Given the description of an element on the screen output the (x, y) to click on. 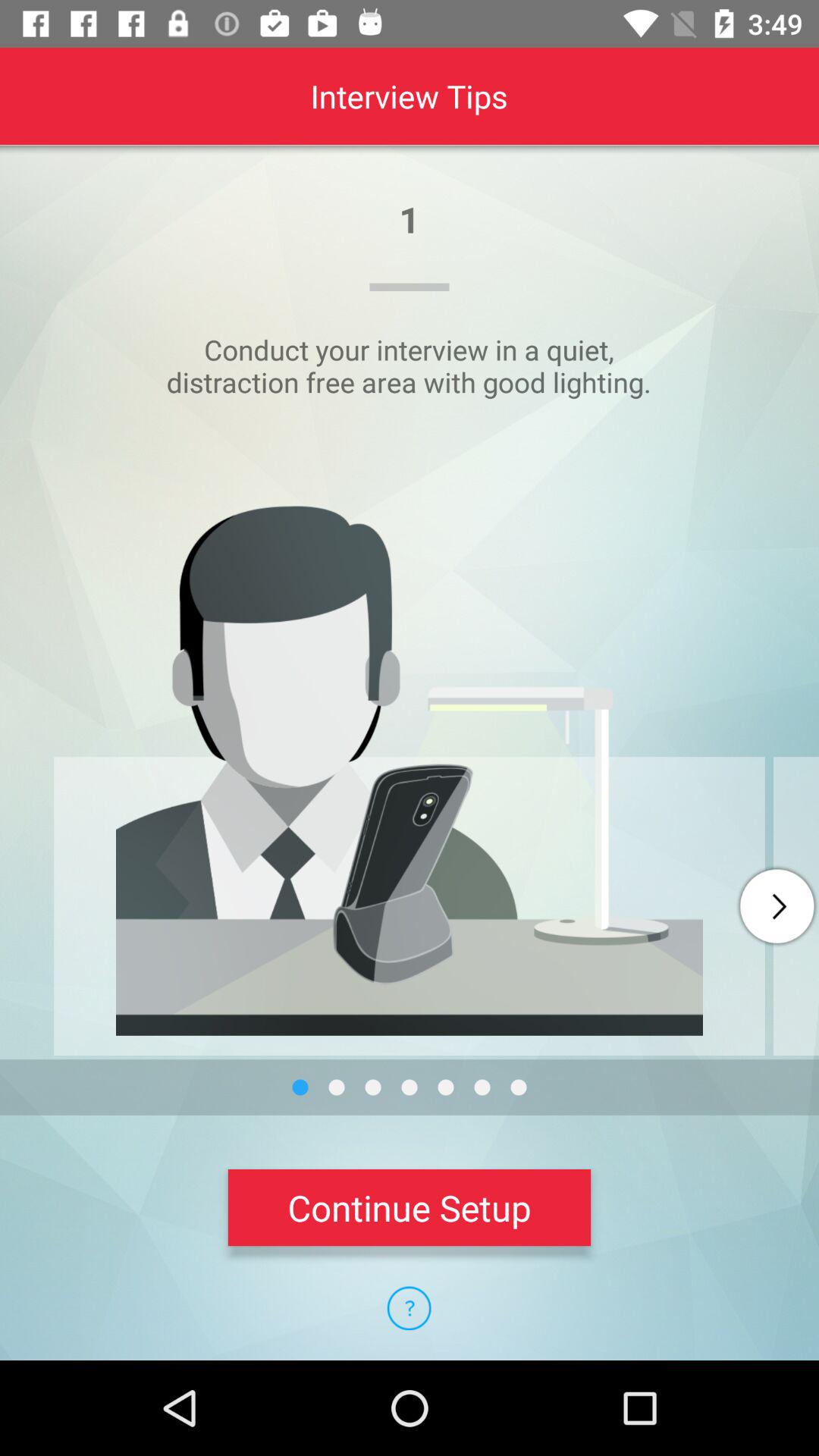
next option (777, 906)
